Given the description of an element on the screen output the (x, y) to click on. 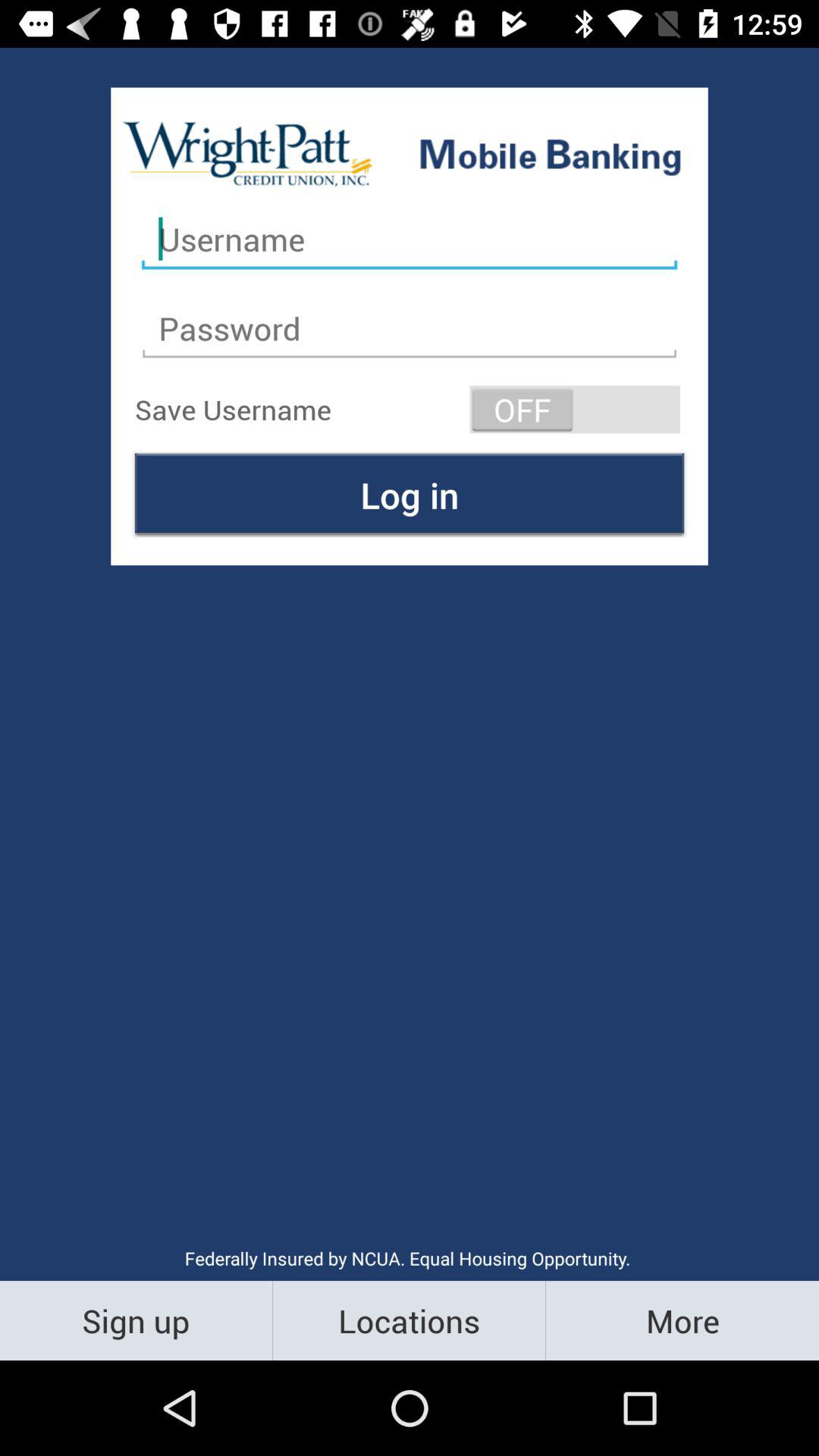
click the icon below the federally insured by item (409, 1320)
